Given the description of an element on the screen output the (x, y) to click on. 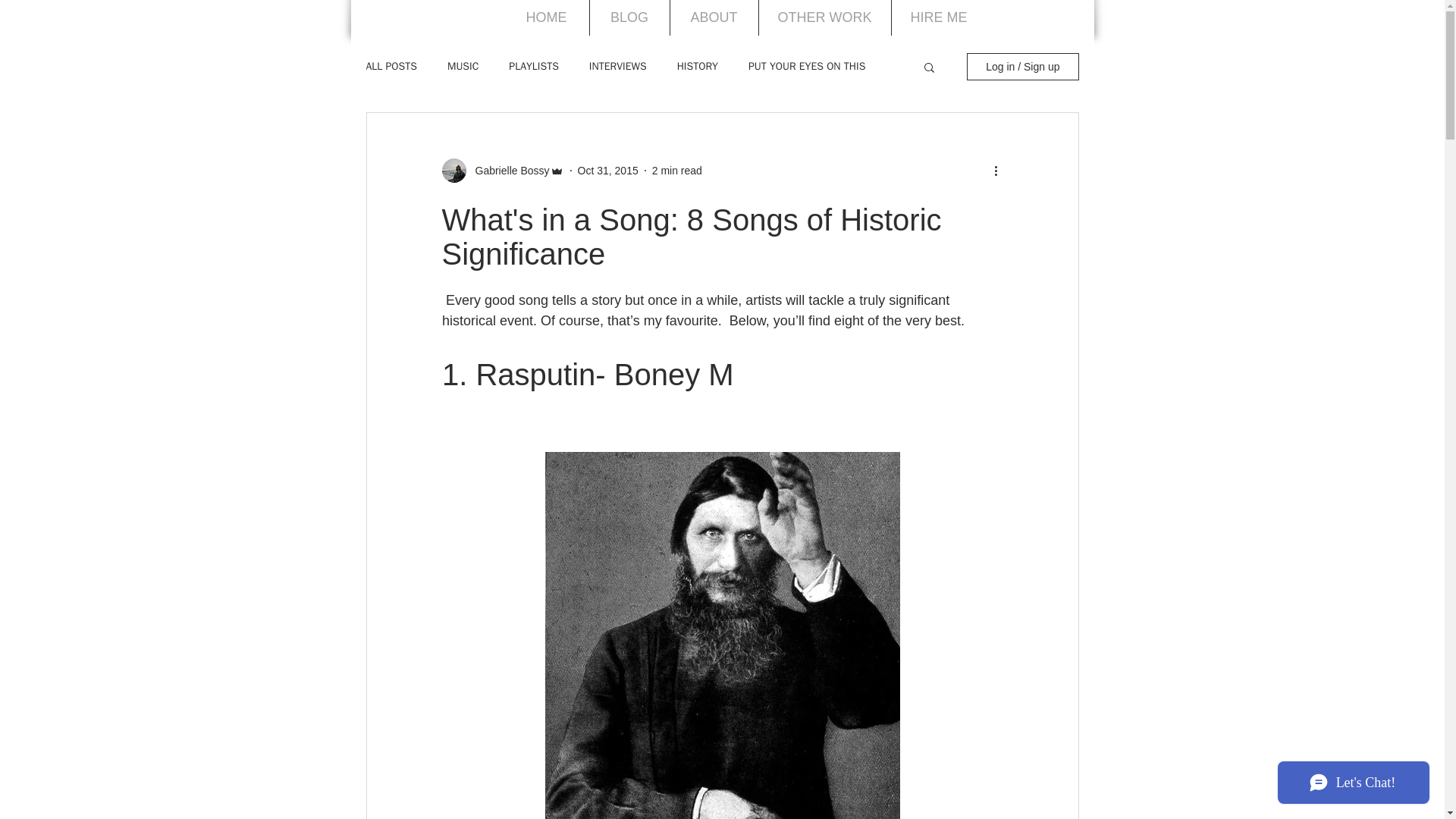
Gabrielle Bossy (506, 170)
HOME (545, 18)
INTERVIEWS (617, 66)
PUT YOUR EYES ON THIS (806, 66)
ABOUT (713, 18)
HIRE ME (939, 18)
Oct 31, 2015 (608, 169)
PLAYLISTS (532, 66)
HISTORY (697, 66)
MUSIC (462, 66)
ALL POSTS (390, 66)
OTHER WORK (823, 18)
2 min read (676, 169)
BLOG (629, 18)
